Given the description of an element on the screen output the (x, y) to click on. 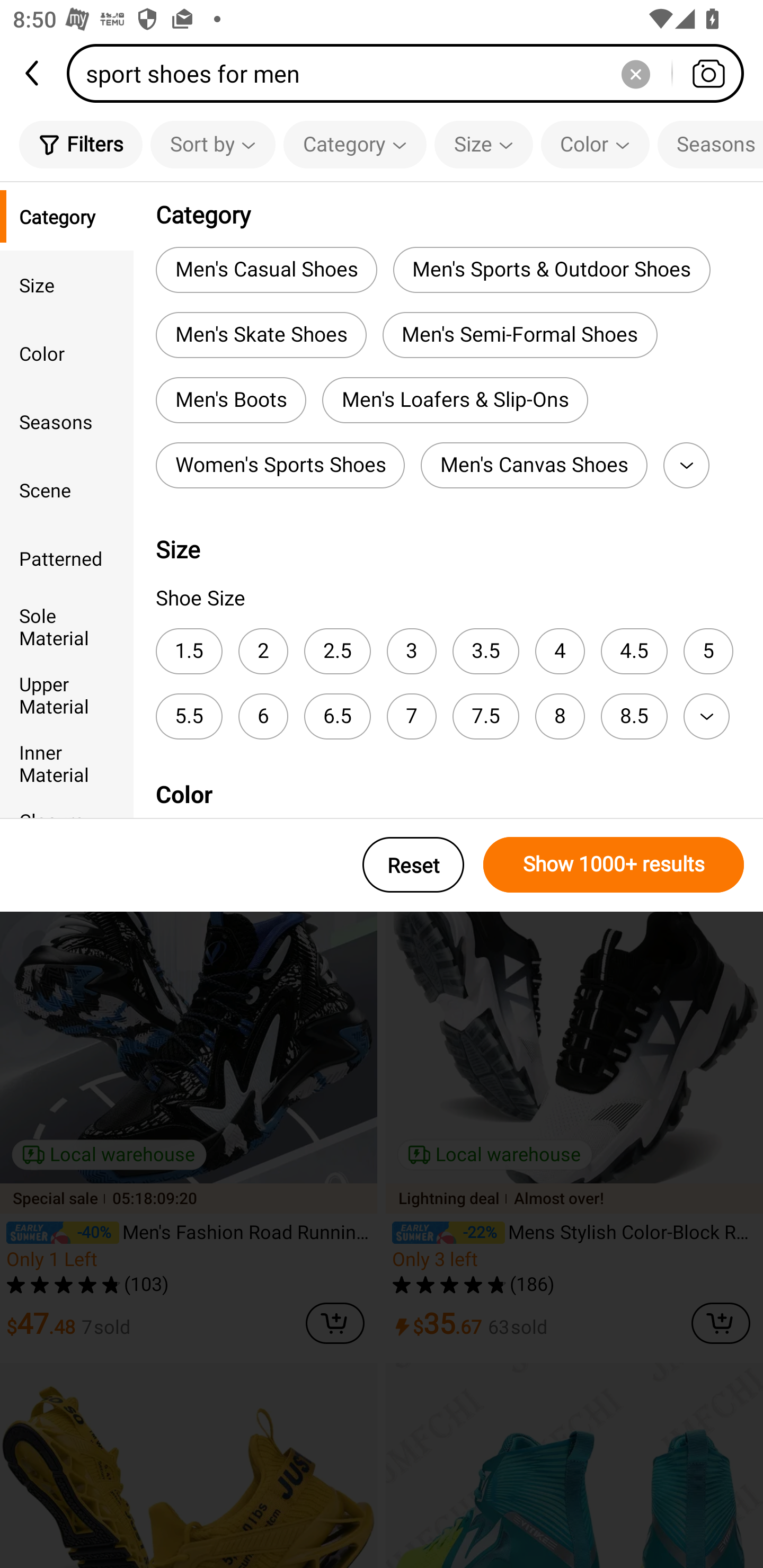
back (33, 72)
sport shoes for men (411, 73)
Delete search history (635, 73)
Search by photo (708, 73)
Filters (80, 143)
Sort by (212, 143)
Category (354, 143)
Size (483, 143)
Color (594, 143)
Seasons (710, 143)
Category (66, 215)
Men's Casual Shoes (265, 269)
Men's Sports & Outdoor Shoes (551, 269)
Size (66, 284)
Men's Skate Shoes (261, 334)
Men's Semi-Formal Shoes (519, 334)
Color (66, 352)
Men's Boots (230, 400)
Men's Loafers & Slip-Ons (454, 400)
Seasons (66, 421)
Women's Sports Shoes (280, 464)
Men's Canvas Shoes (533, 464)
More (686, 464)
Scene (66, 489)
Patterned (66, 557)
Sole Material (66, 626)
1.5 (188, 651)
2 (263, 651)
2.5 (337, 651)
3 (411, 651)
3.5 (485, 651)
4 (559, 651)
4.5 (634, 651)
5 (708, 651)
Upper Material (66, 694)
5.5 (188, 716)
6 (263, 716)
6.5 (337, 716)
7 (411, 716)
7.5 (485, 716)
8 (559, 716)
8.5 (634, 716)
More (706, 716)
Inner Material (66, 762)
Reset (412, 864)
Show 1000+ results (612, 864)
